Given the description of an element on the screen output the (x, y) to click on. 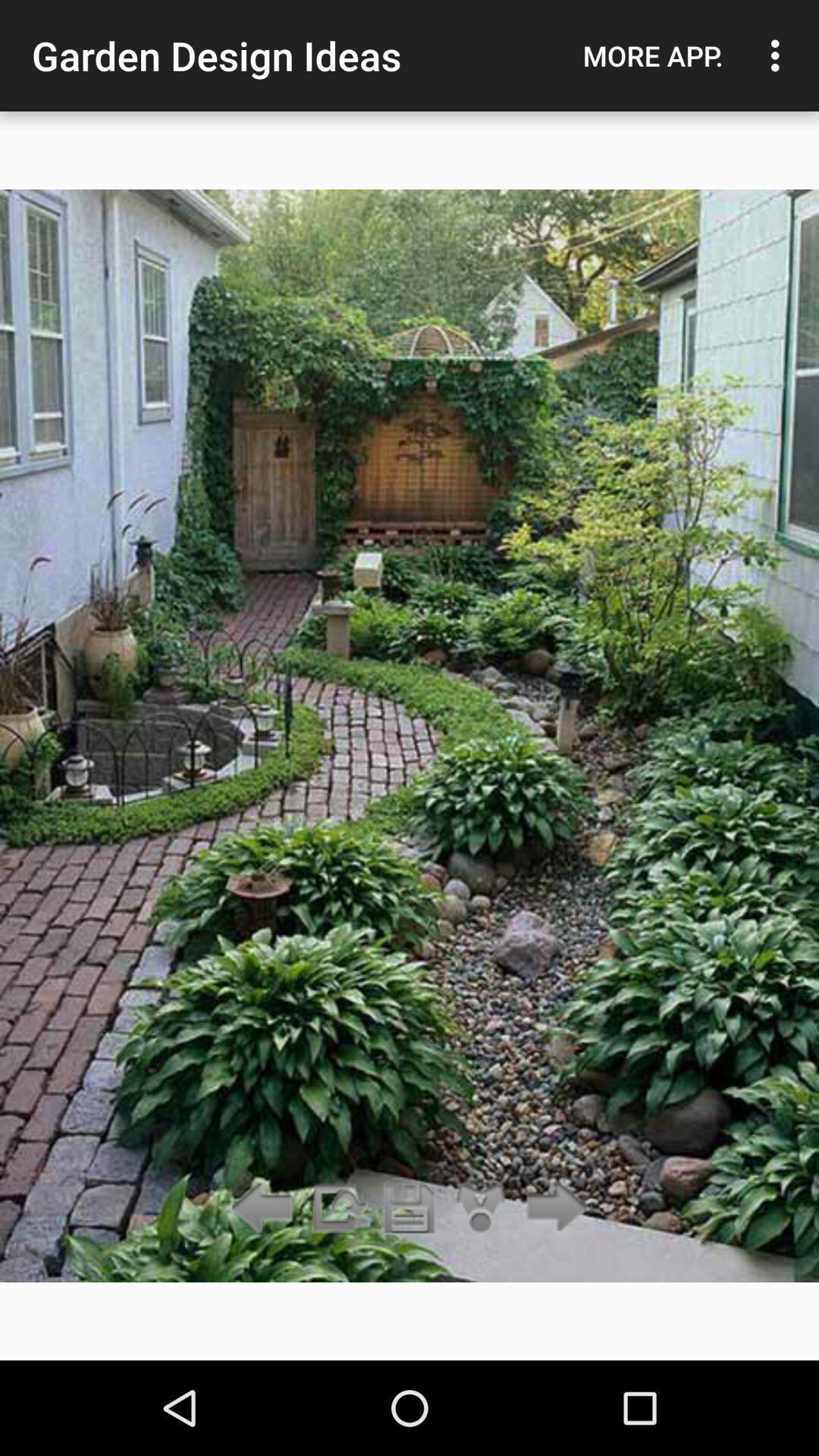
turn off more app. item (653, 55)
